Given the description of an element on the screen output the (x, y) to click on. 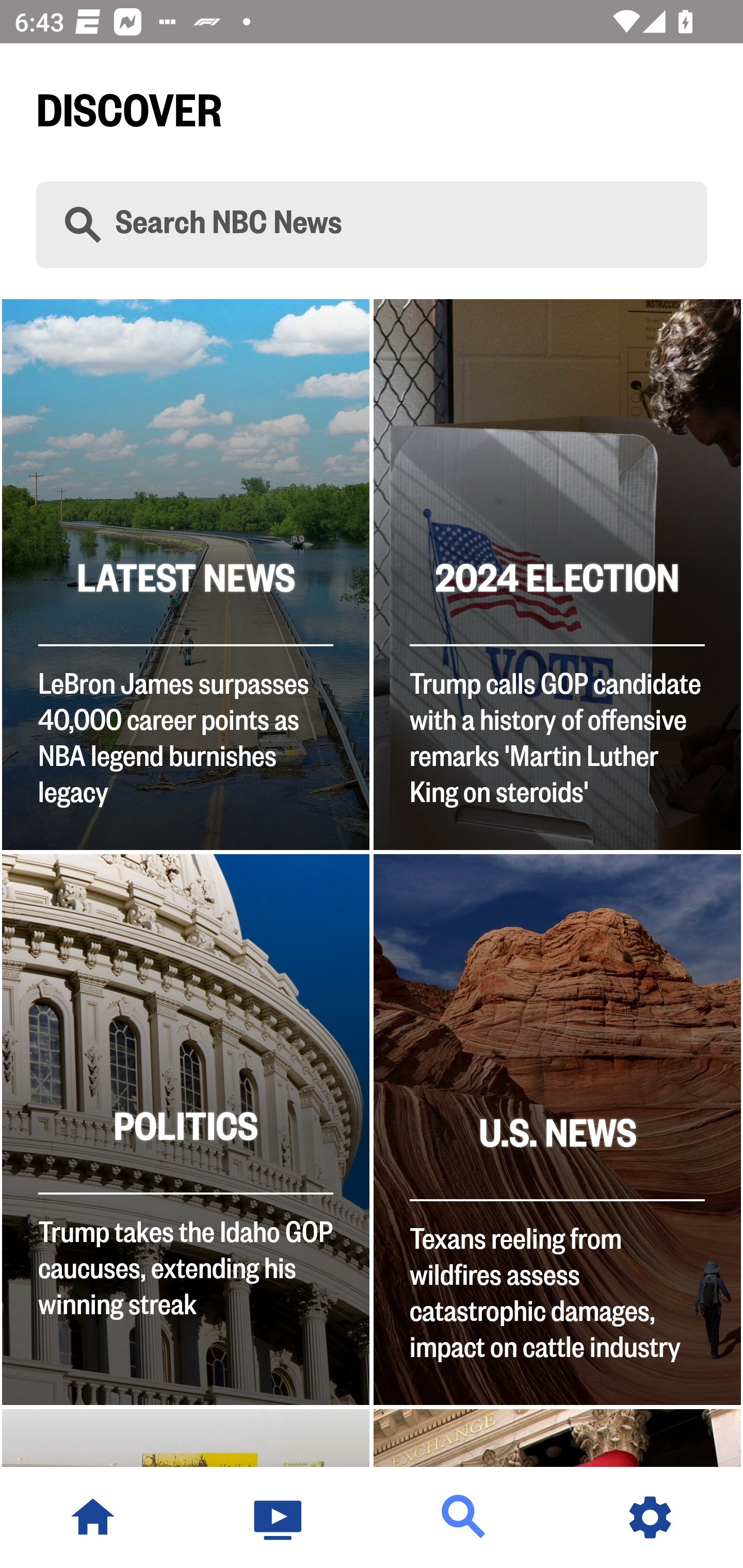
NBC News Home (92, 1517)
Watch (278, 1517)
Settings (650, 1517)
